Given the description of an element on the screen output the (x, y) to click on. 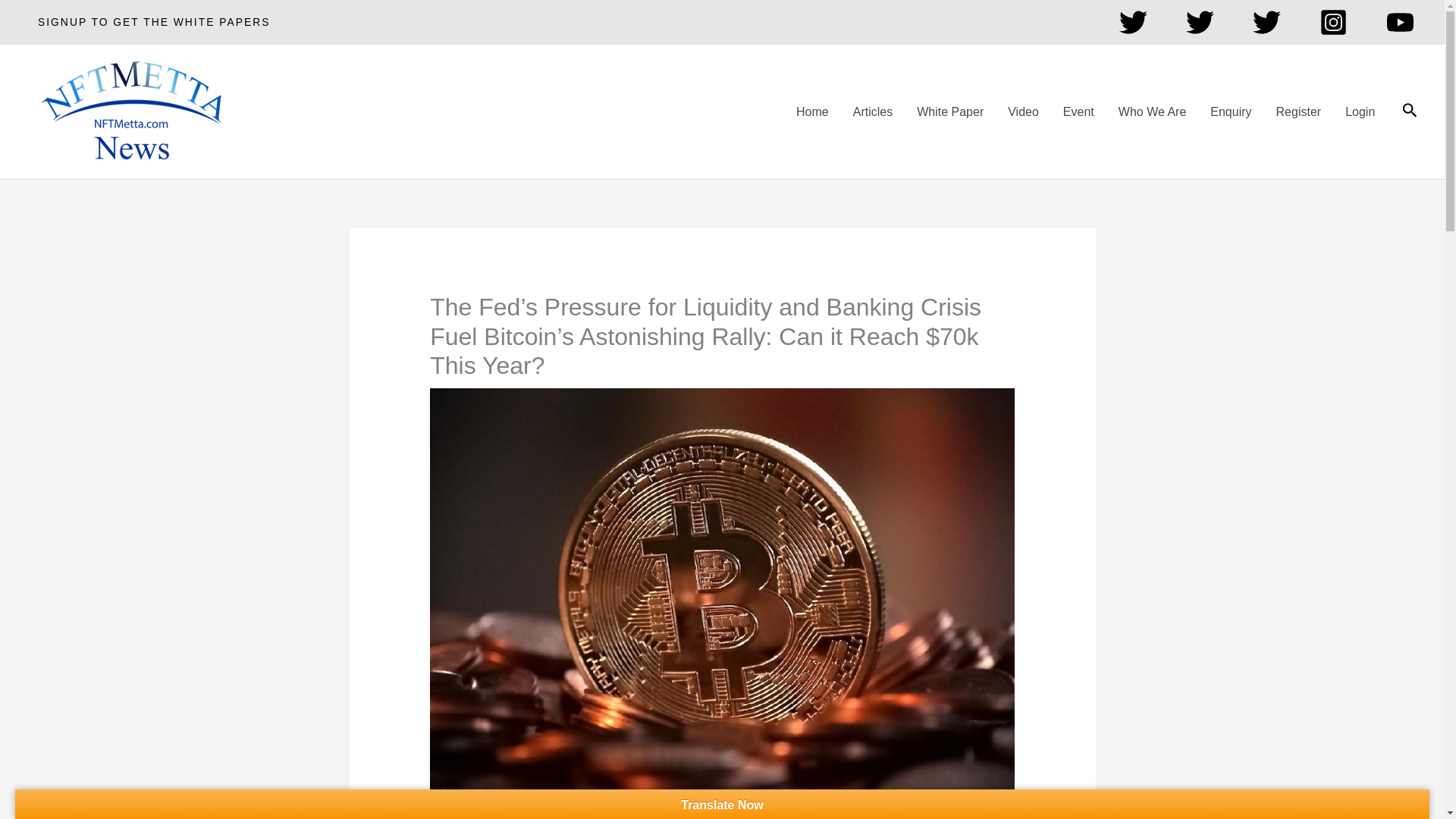
Event (1078, 111)
White Paper (949, 111)
Articles (872, 111)
Login (1360, 111)
SIGNUP TO GET THE WHITE PAPERS (153, 22)
Home (812, 111)
Video (1023, 111)
Search (1410, 111)
Who We Are (1152, 111)
Register (1298, 111)
Enquiry (1230, 111)
